Given the description of an element on the screen output the (x, y) to click on. 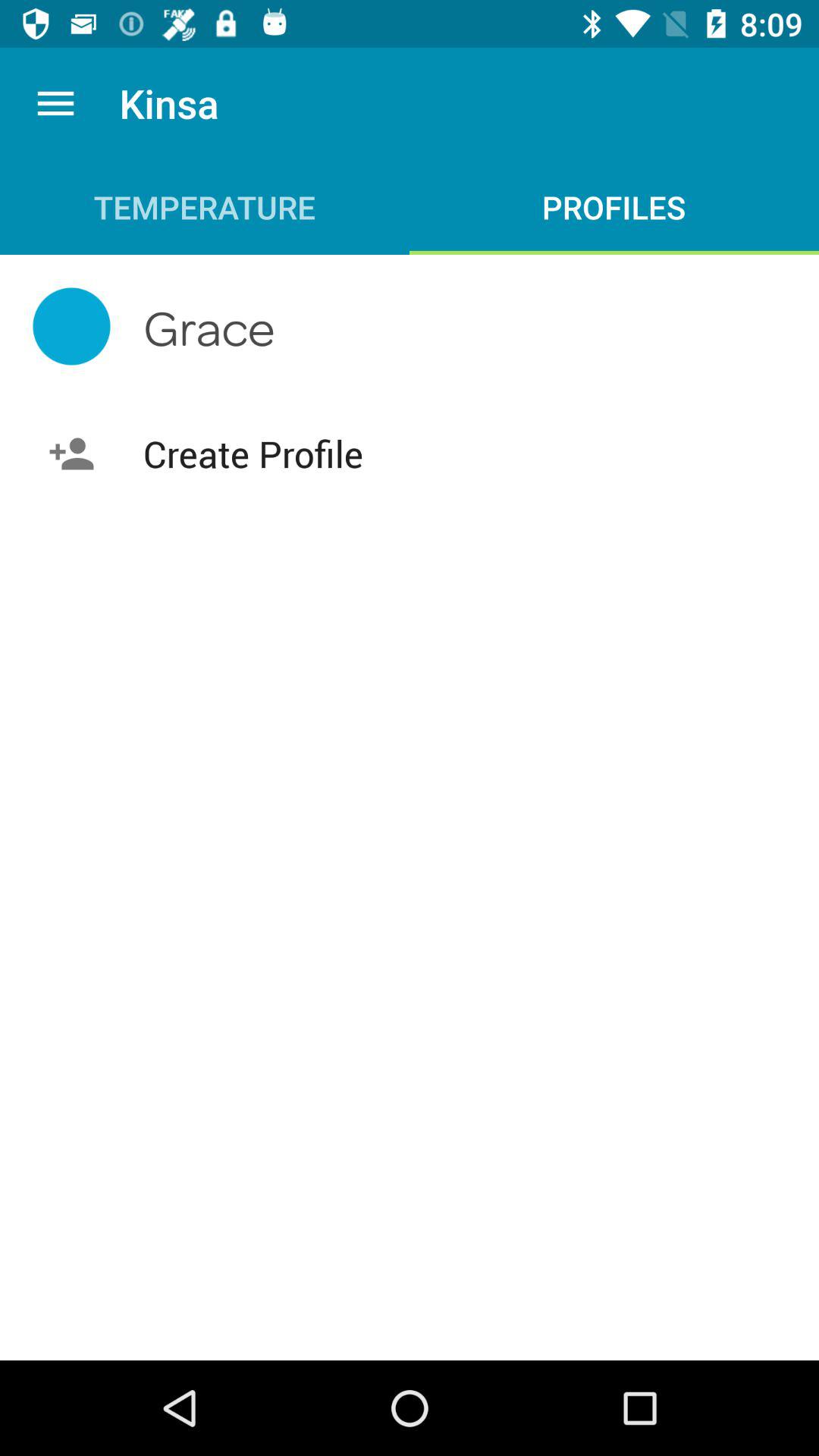
turn off the icon above temperature icon (55, 103)
